Given the description of an element on the screen output the (x, y) to click on. 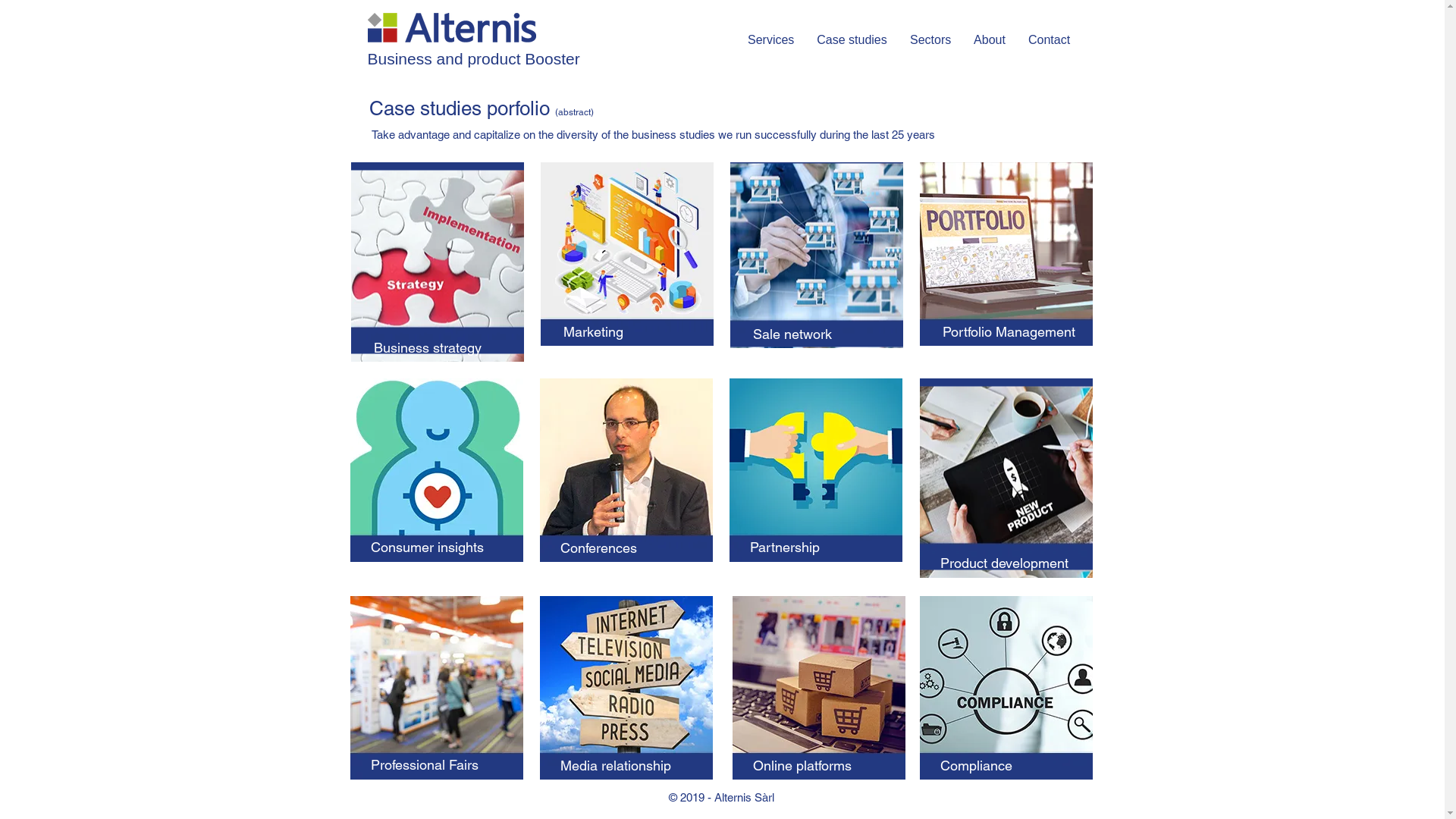
Alternis_300.png Element type: hover (451, 27)
Services Element type: text (770, 40)
Contact Element type: text (1048, 40)
Case studies Element type: text (851, 40)
Business and product Booster Element type: text (473, 58)
Sectors Element type: text (930, 40)
About Element type: text (989, 40)
